Given the description of an element on the screen output the (x, y) to click on. 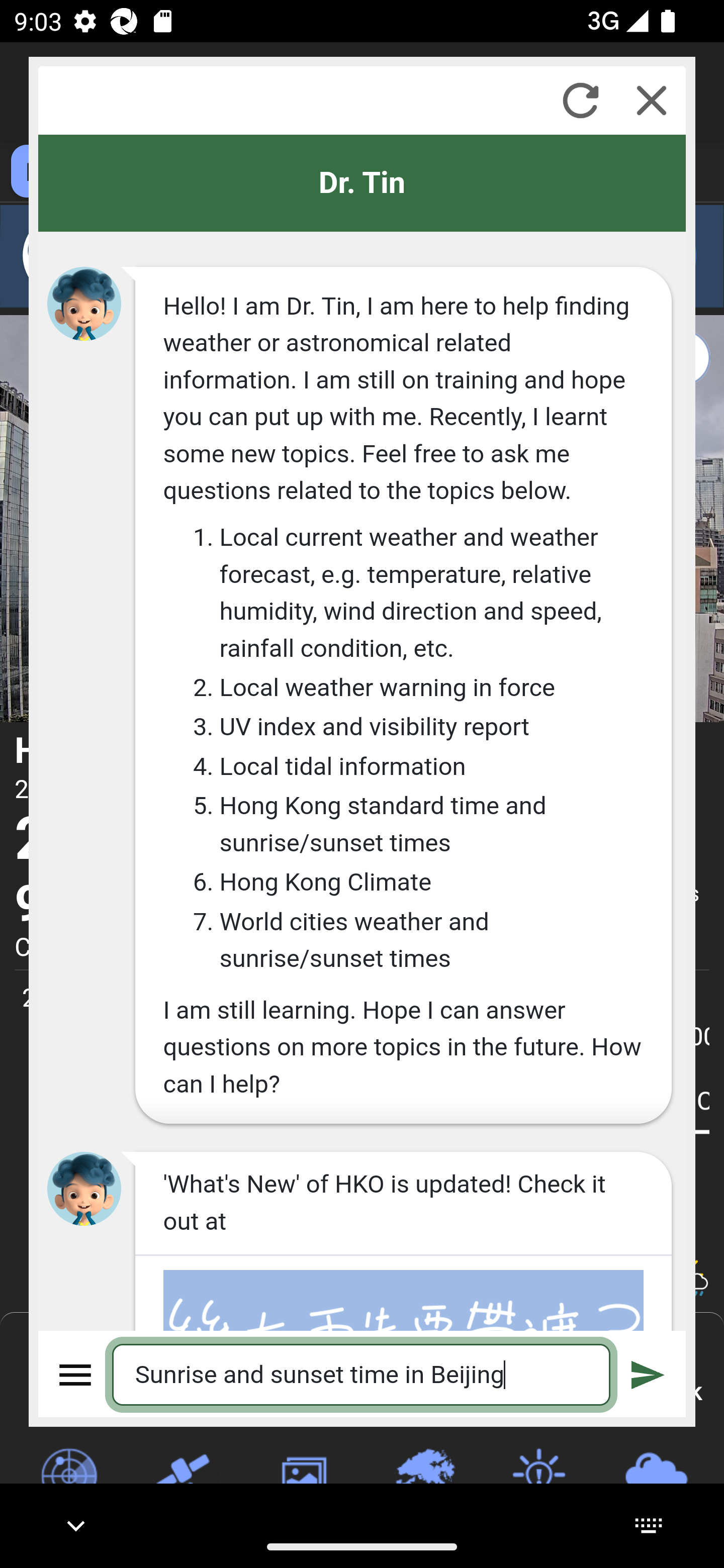
Refresh (580, 100)
Close (651, 100)
Menu (75, 1374)
Submit (648, 1374)
Sunrise and sunset time in Beijing (361, 1374)
